Given the description of an element on the screen output the (x, y) to click on. 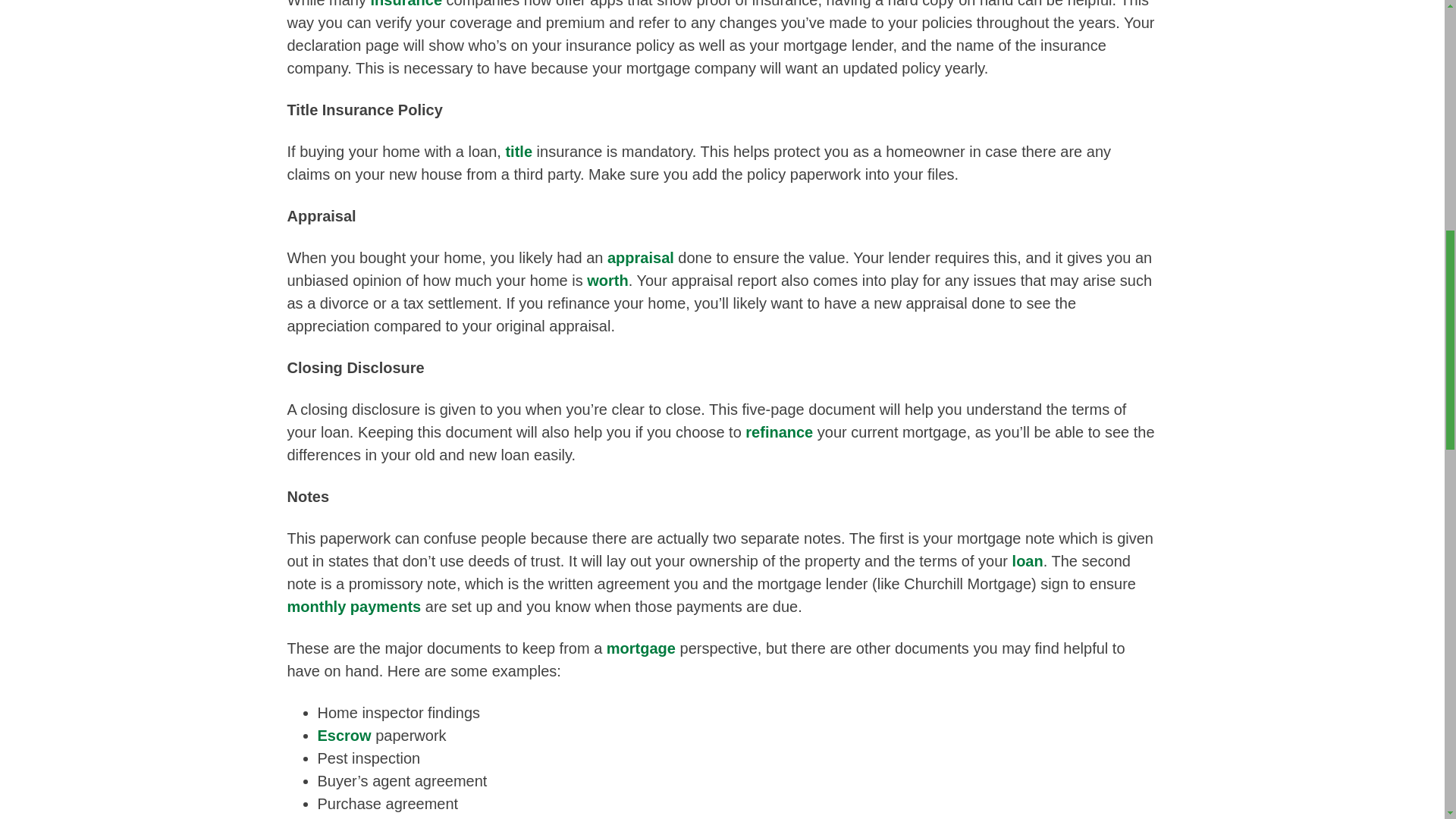
mortgage (641, 647)
loan (1027, 560)
insurance (406, 4)
title (518, 151)
worth (606, 280)
refinance (778, 432)
monthly payments (353, 606)
Escrow (344, 735)
appraisal (640, 257)
